Given the description of an element on the screen output the (x, y) to click on. 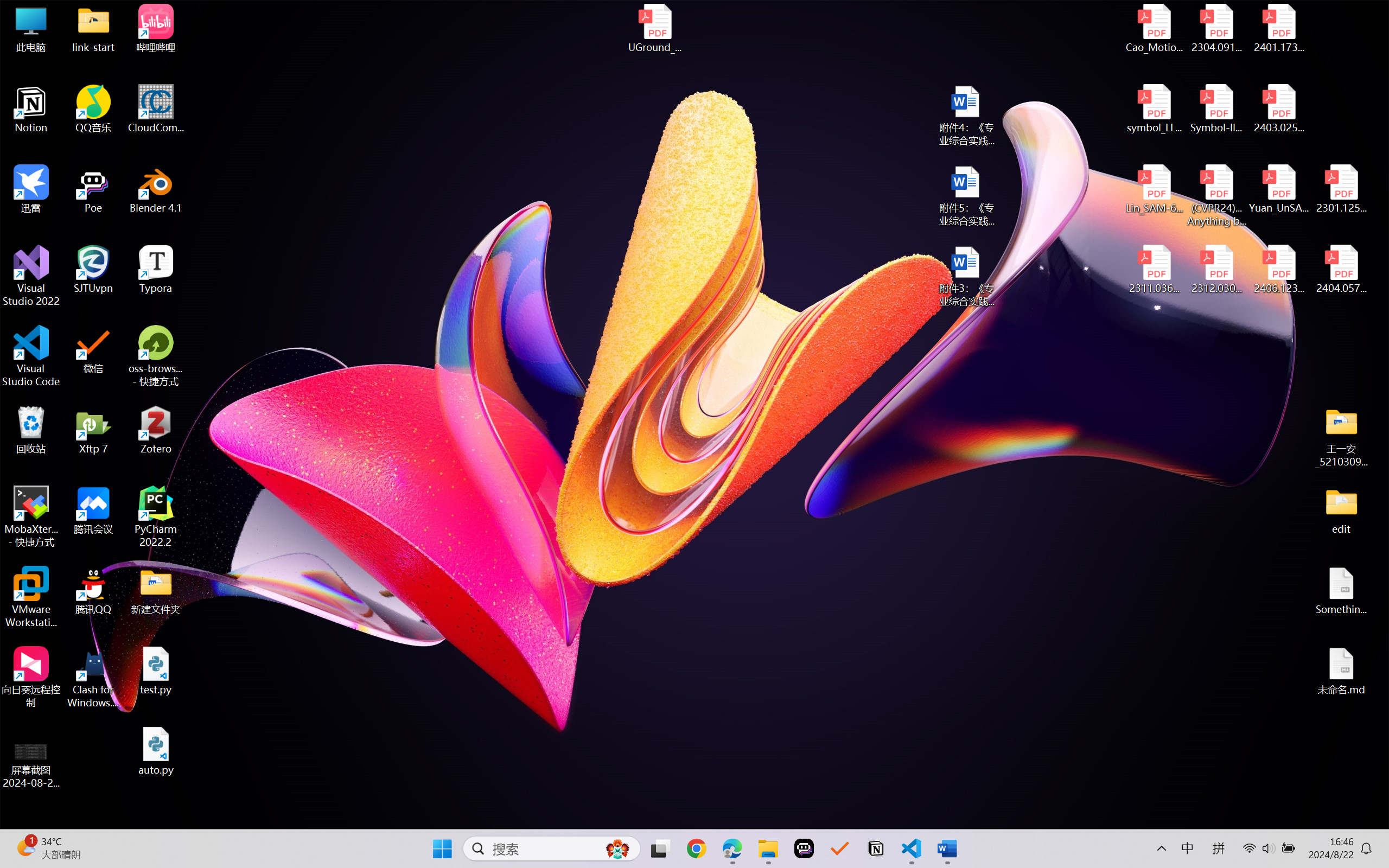
test.py (156, 670)
Symbol-llm-v2.pdf (1216, 109)
Typora (156, 269)
symbol_LLM.pdf (1154, 109)
SJTUvpn (93, 269)
